Given the description of an element on the screen output the (x, y) to click on. 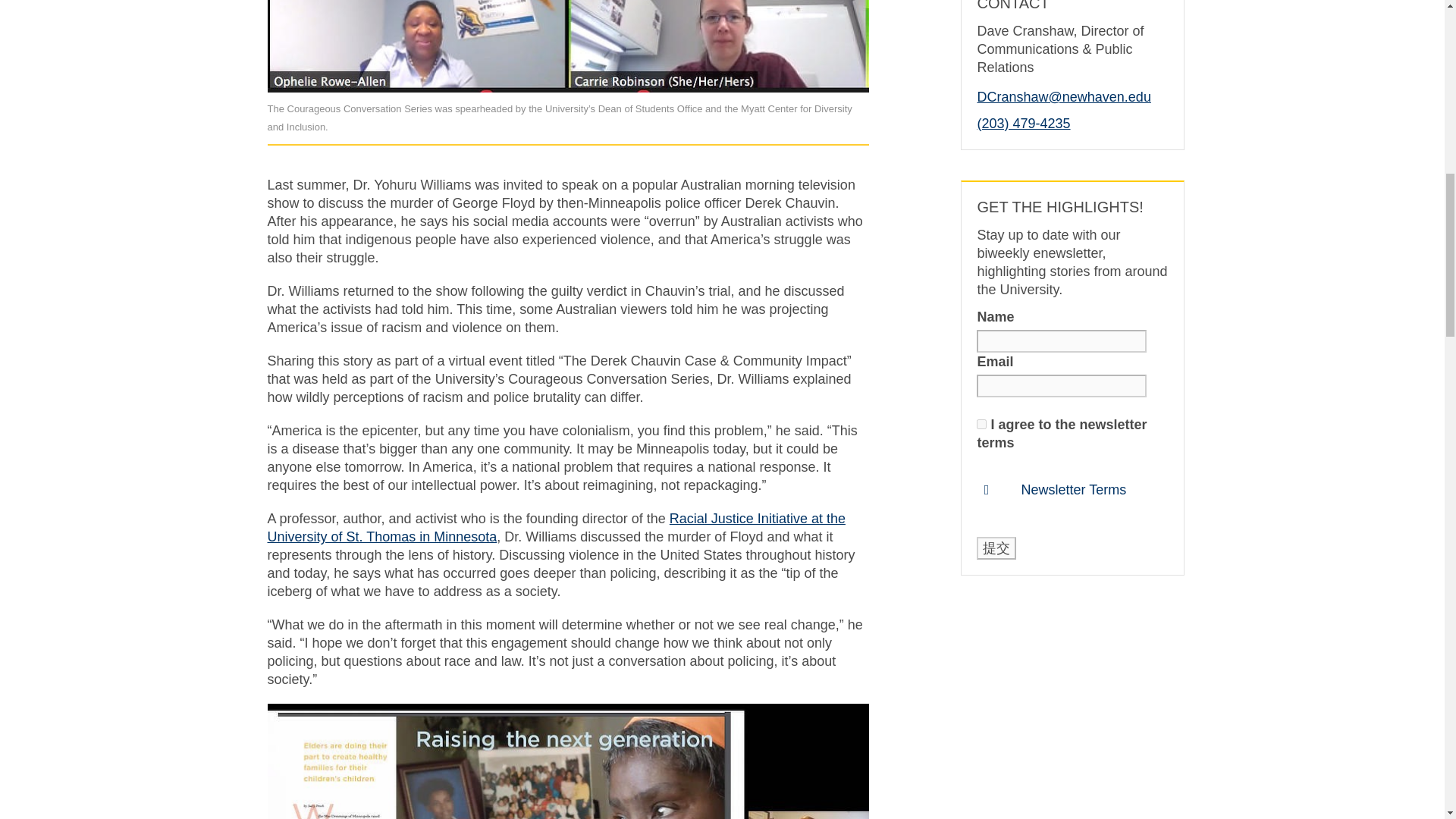
on (981, 424)
